Given the description of an element on the screen output the (x, y) to click on. 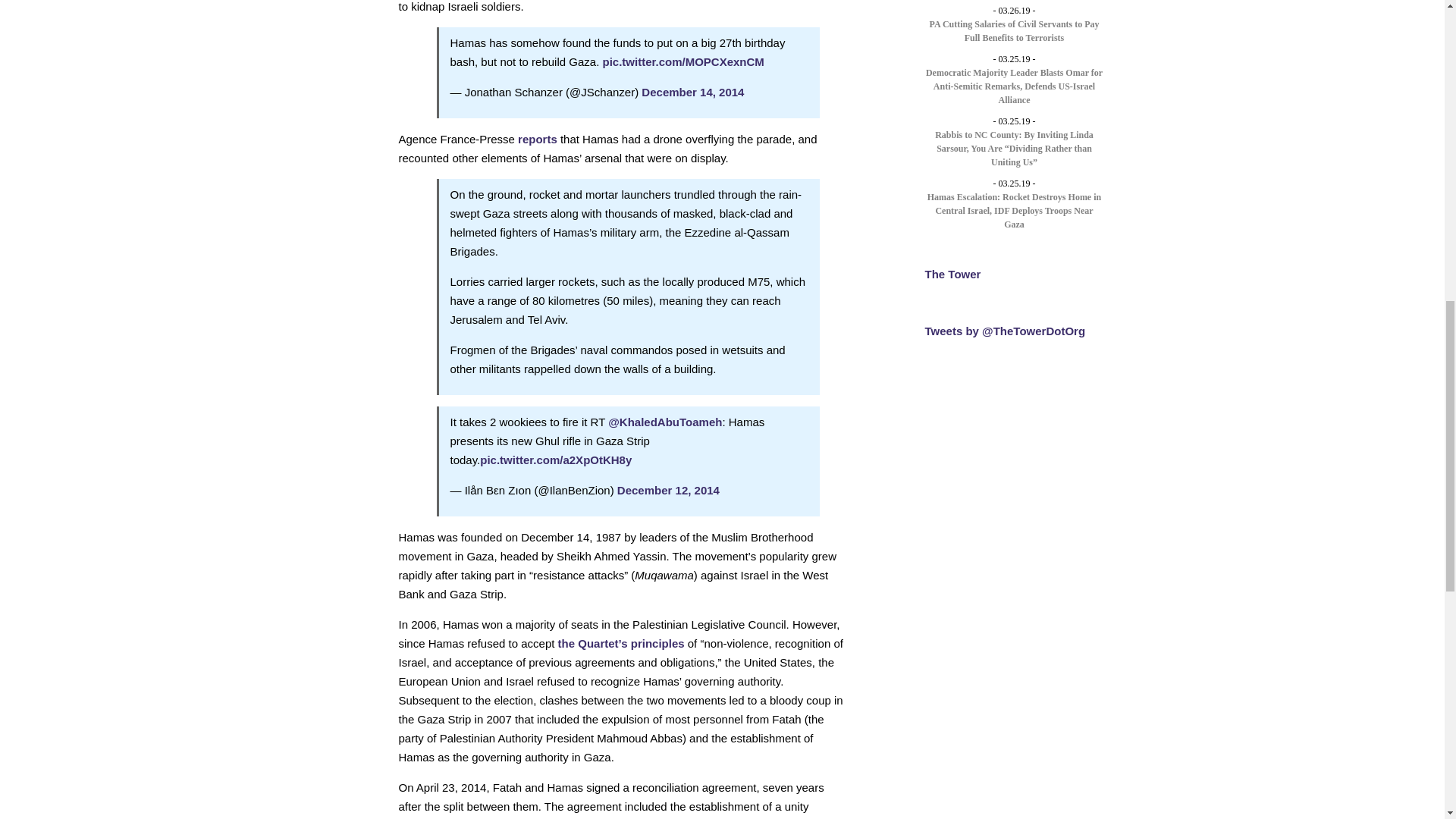
reports (537, 138)
December 14, 2014 (693, 91)
December 12, 2014 (668, 490)
